Given the description of an element on the screen output the (x, y) to click on. 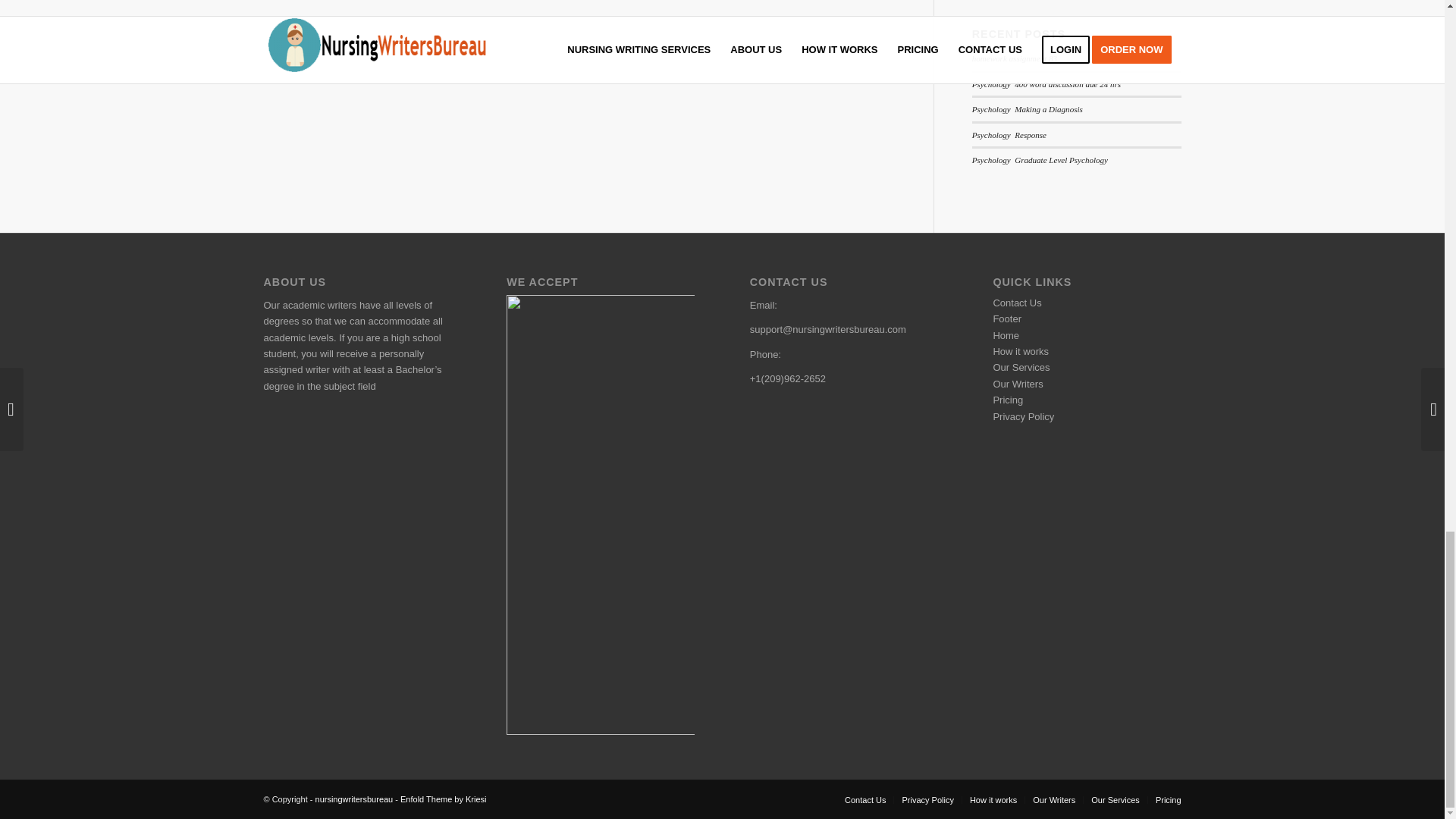
Our Writers (1017, 383)
Psychology  Making a Diagnosis (1027, 108)
Home (1005, 335)
Our Services (1020, 367)
homework assignment 83 (1014, 58)
Footer (1007, 318)
Pricing (1007, 399)
Psychology  400 word discussion due 24 hrs (1046, 83)
Contact Us (1016, 302)
Psychology  Graduate Level Psychology (1040, 159)
